Given the description of an element on the screen output the (x, y) to click on. 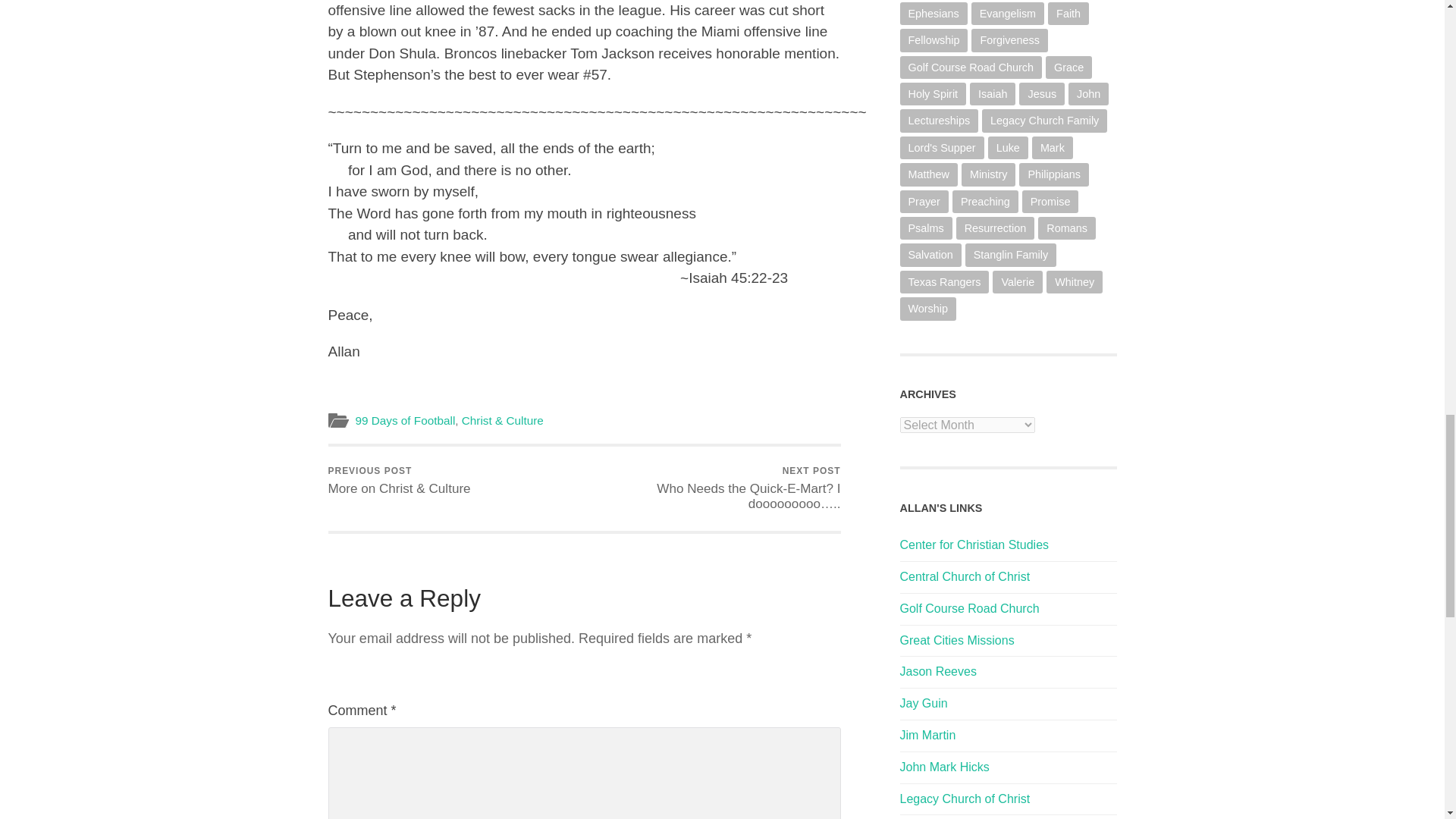
GCR Church (969, 608)
John Mark Hicks Ministries (943, 766)
99 Days of Football (404, 420)
Equipping and Encouraging Missionaries and Church Planters (956, 640)
Central Church of Christ in Amarillo, Texas (964, 576)
CCS (973, 544)
One in Jesus (923, 703)
Legacy Church of Christ in North Richland Hills, Texas (964, 798)
God Hungry (927, 735)
